Given the description of an element on the screen output the (x, y) to click on. 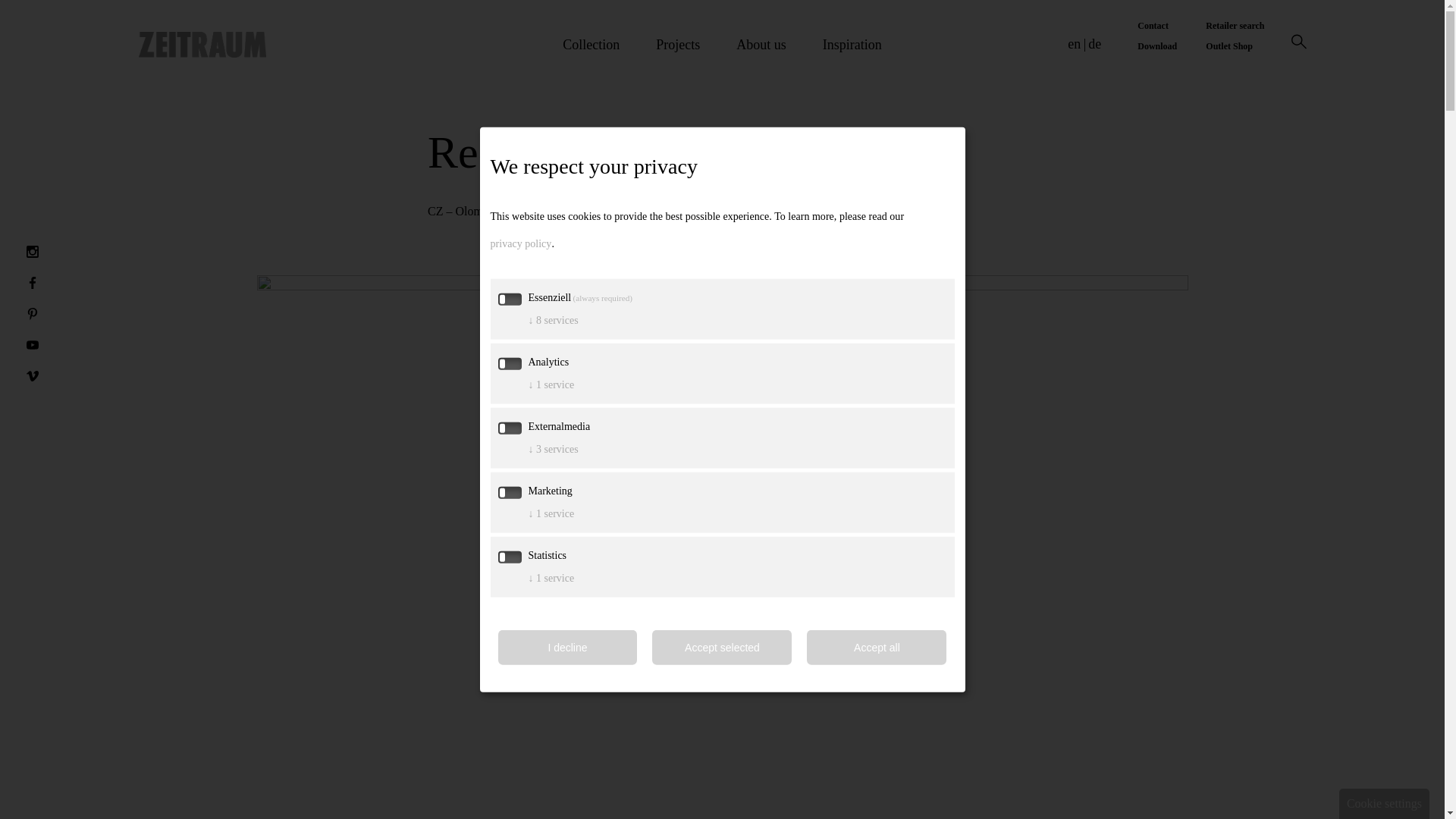
Outlet Shop (1234, 46)
Collection (591, 56)
About us (761, 56)
Retailer (1234, 25)
Projects (678, 56)
Contact (1156, 25)
Download (1156, 46)
